Given the description of an element on the screen output the (x, y) to click on. 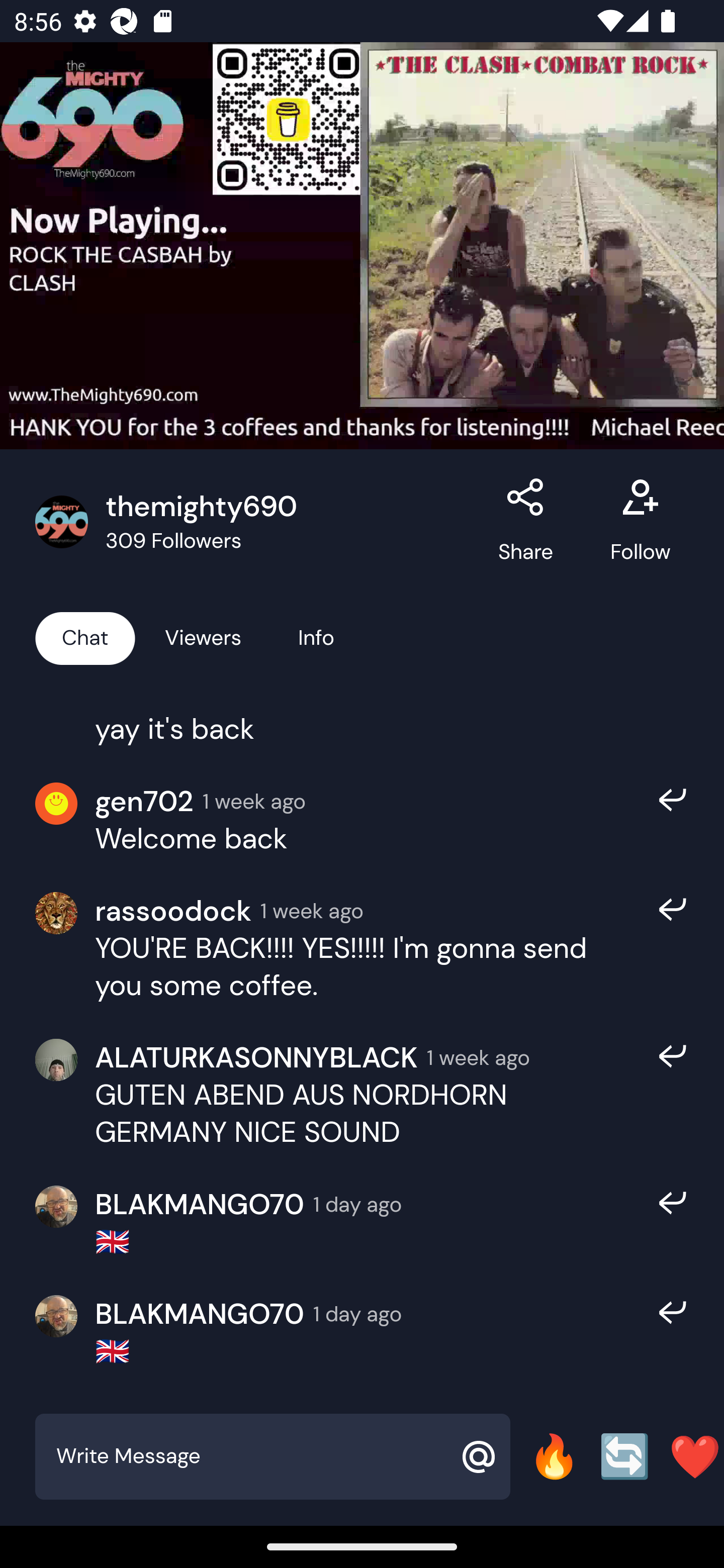
Share (525, 521)
Follow (640, 521)
Chat (84, 636)
Viewers (203, 636)
Info (316, 636)
gen702 (143, 801)
rassoodock (172, 910)
ALATURKASONNYBLACK (255, 1056)
BLAKMANGO70 (199, 1204)
BLAKMANGO70 (199, 1313)
Write Message (250, 1456)
🔥 (553, 1456)
🔄 (624, 1456)
❤️ (694, 1456)
